Given the description of an element on the screen output the (x, y) to click on. 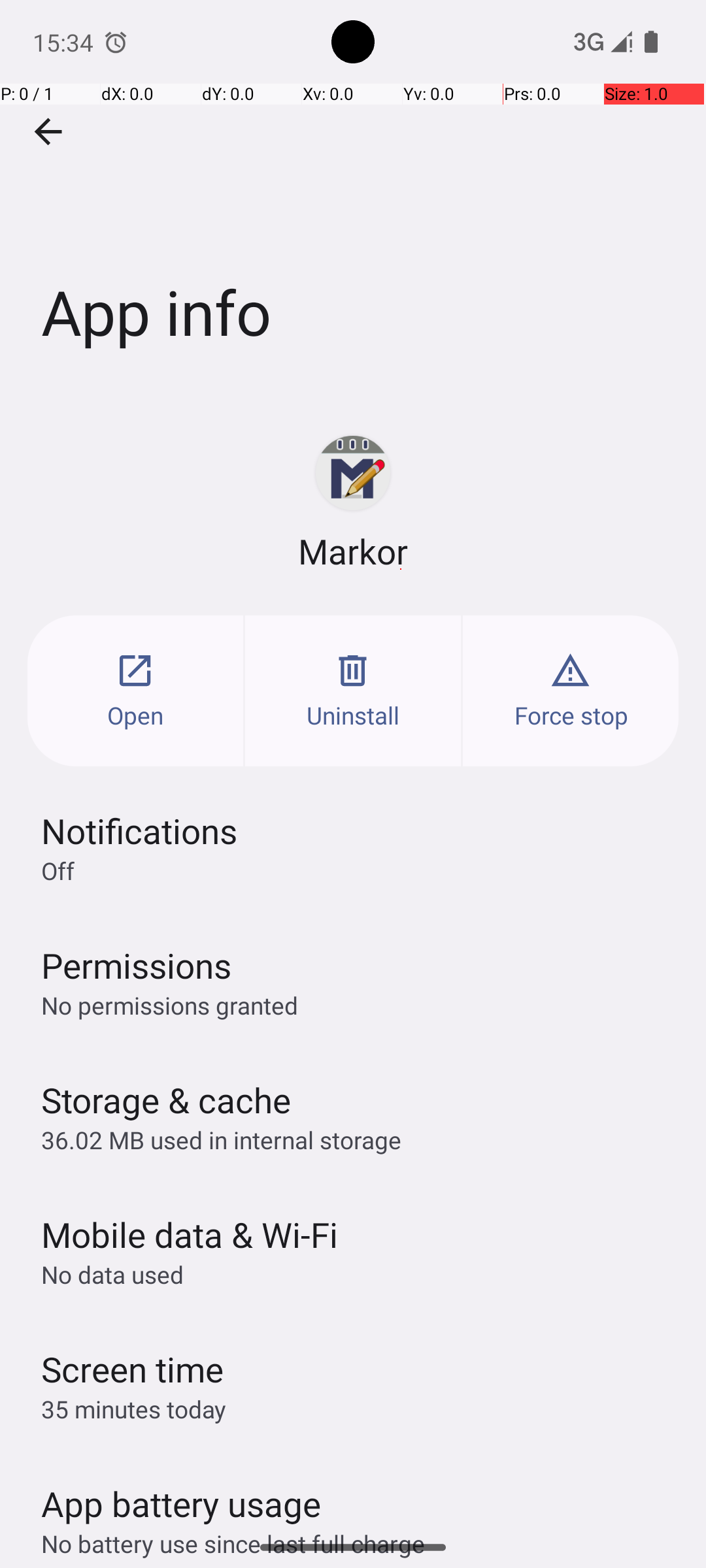
No permissions granted Element type: android.widget.TextView (169, 1004)
36.02 MB used in internal storage Element type: android.widget.TextView (221, 1139)
35 minutes today Element type: android.widget.TextView (133, 1408)
